Given the description of an element on the screen output the (x, y) to click on. 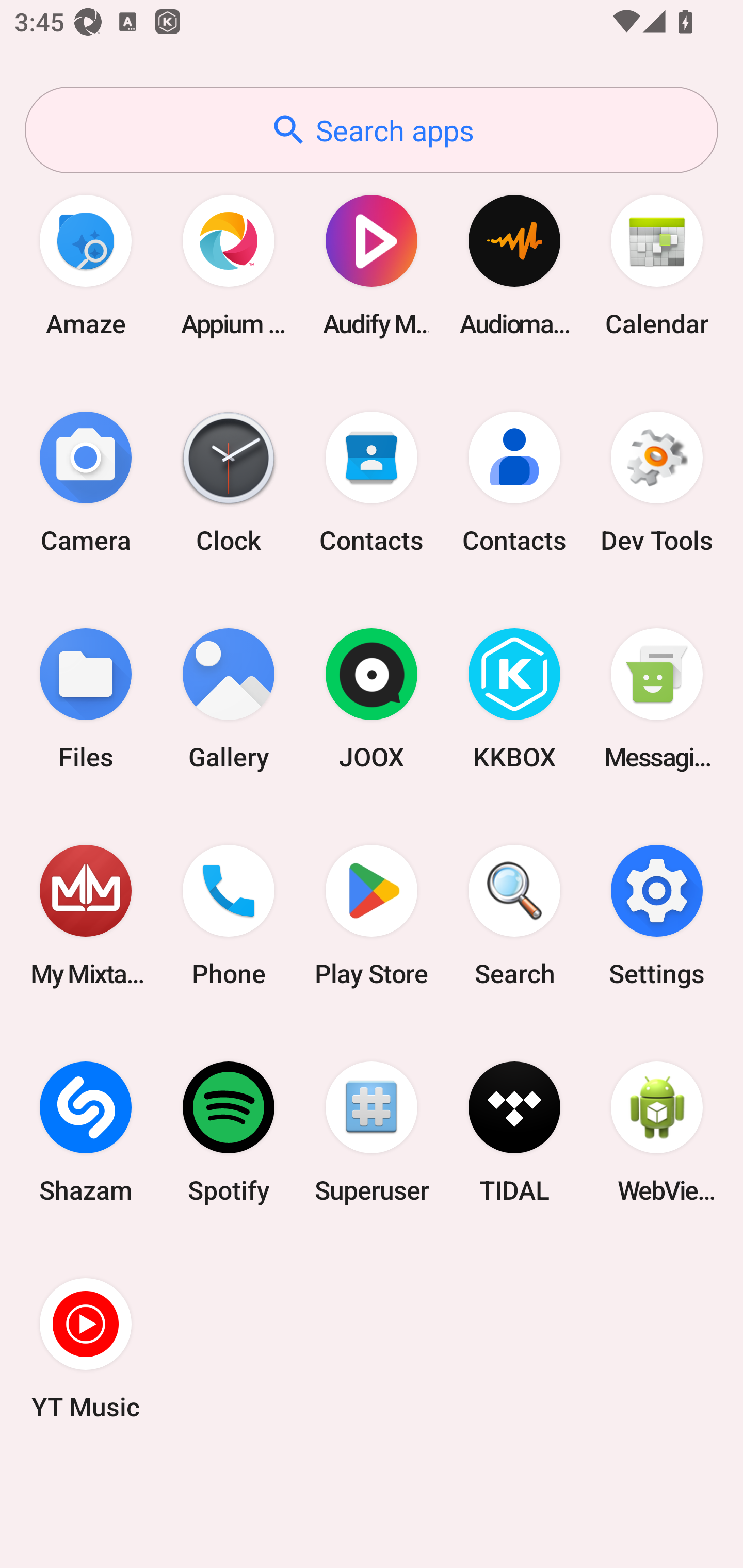
  Search apps (371, 130)
Amaze (85, 264)
Appium Settings (228, 264)
Audify Music Player (371, 264)
Audio­mack (514, 264)
Calendar (656, 264)
Camera (85, 482)
Clock (228, 482)
Contacts (371, 482)
Contacts (514, 482)
Dev Tools (656, 482)
Files (85, 699)
Gallery (228, 699)
JOOX (371, 699)
KKBOX (514, 699)
Messaging (656, 699)
My Mixtapez (85, 915)
Phone (228, 915)
Play Store (371, 915)
Search (514, 915)
Settings (656, 915)
Shazam (85, 1131)
Spotify (228, 1131)
Superuser (371, 1131)
TIDAL (514, 1131)
WebView Browser Tester (656, 1131)
YT Music (85, 1348)
